Given the description of an element on the screen output the (x, y) to click on. 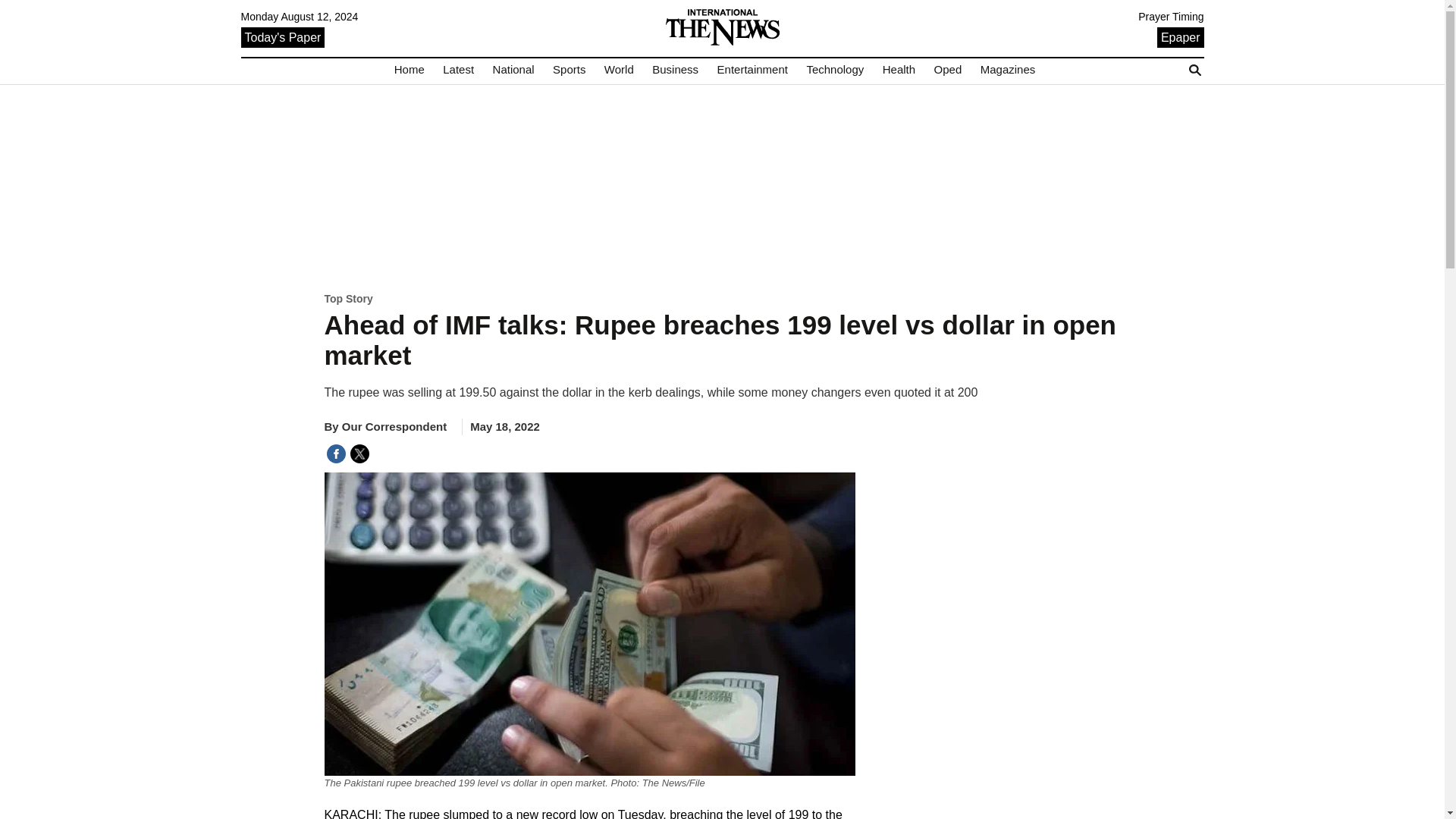
Prayer Timing (1171, 16)
Latest (458, 69)
Today's Paper (282, 37)
Technology (833, 69)
Health (899, 69)
Home (409, 69)
Epaper (1180, 37)
Sports (568, 69)
Entertainment (752, 69)
National (512, 69)
